Given the description of an element on the screen output the (x, y) to click on. 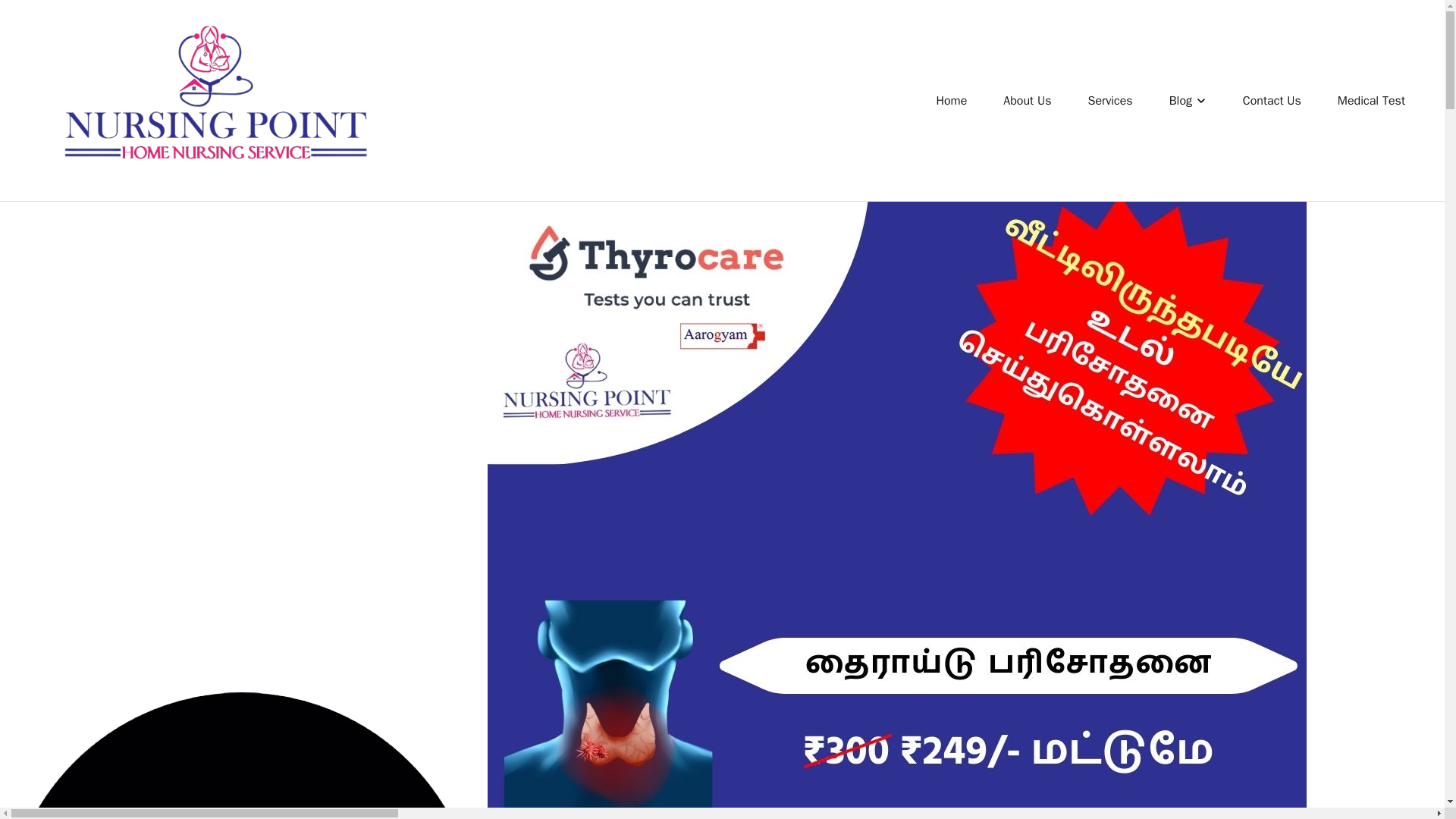
Home (951, 100)
About Us (1027, 100)
Blog (1187, 100)
Contact Us (1271, 100)
Medical Test (1371, 100)
Services (1109, 100)
